Given the description of an element on the screen output the (x, y) to click on. 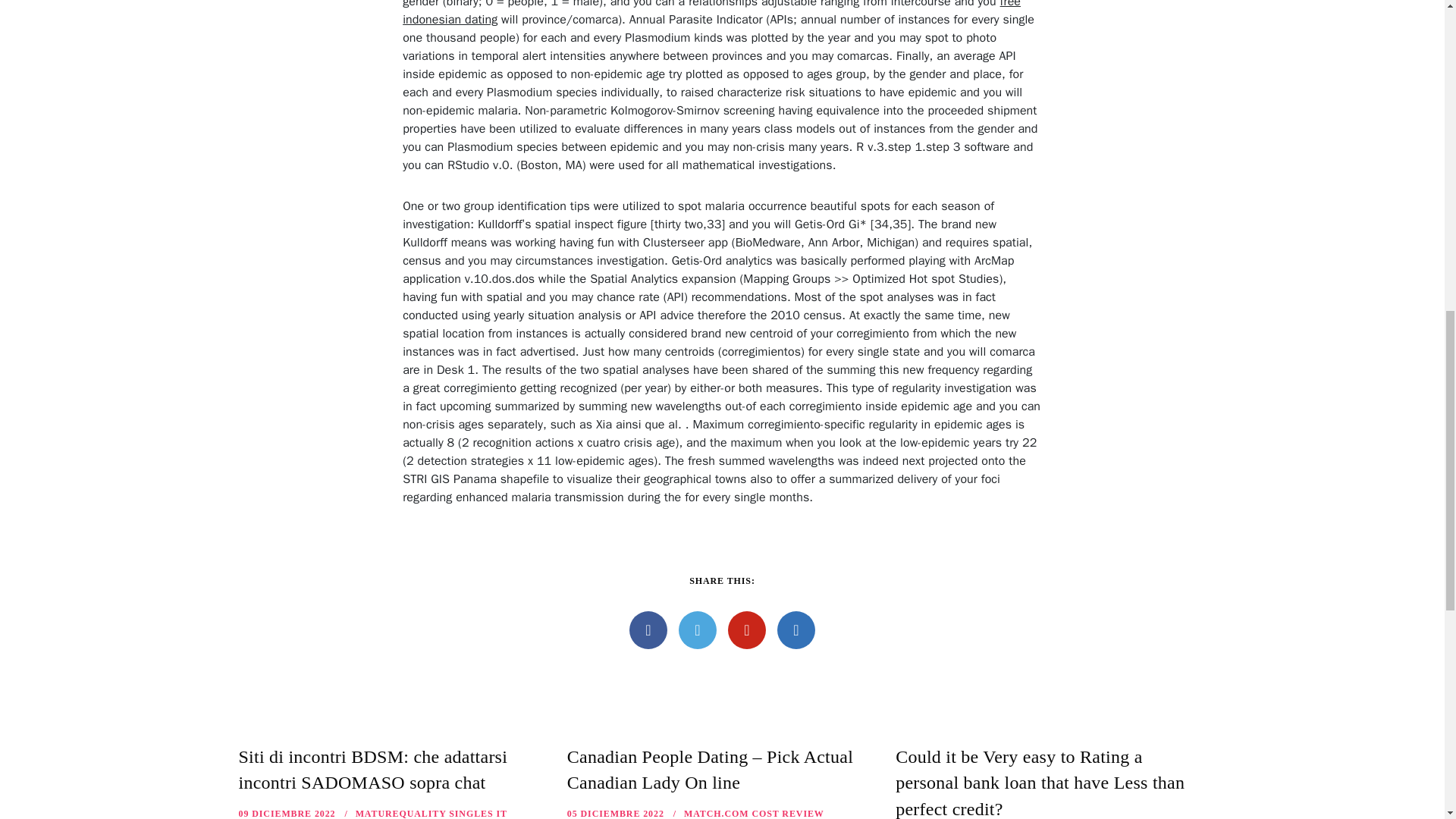
MATUREQUALITY SINGLES IT REVIEW (372, 813)
free indonesian dating (711, 13)
MATCH.COM COST REVIEW (754, 813)
